Given the description of an element on the screen output the (x, y) to click on. 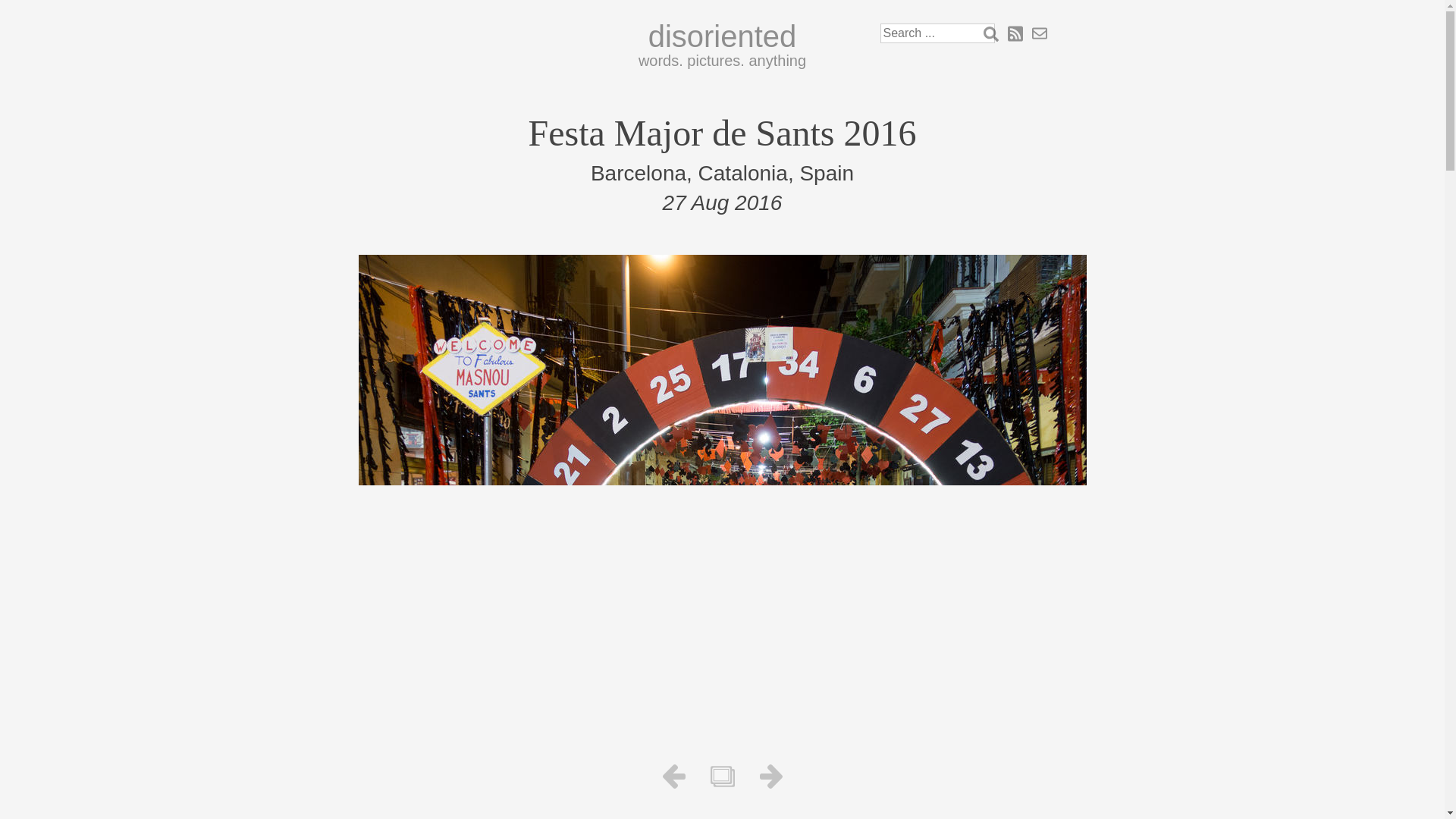
Atom and JSON feeds (1014, 33)
Photoset (721, 776)
Search website (989, 33)
Send email to site owner (1038, 33)
disoriented (721, 36)
